Given the description of an element on the screen output the (x, y) to click on. 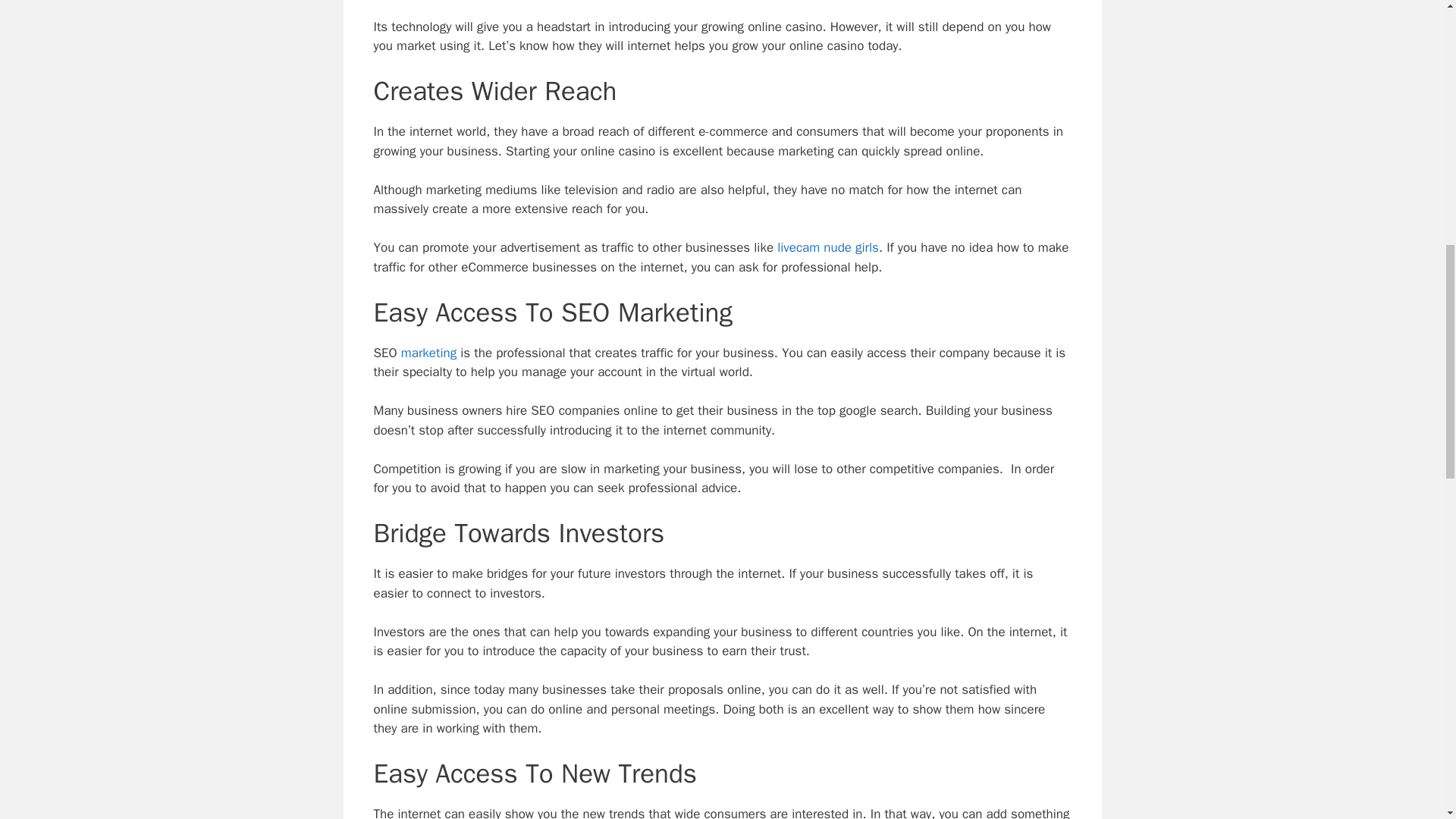
Scroll back to top (1406, 720)
livecam nude girls (828, 247)
marketing (429, 352)
